Given the description of an element on the screen output the (x, y) to click on. 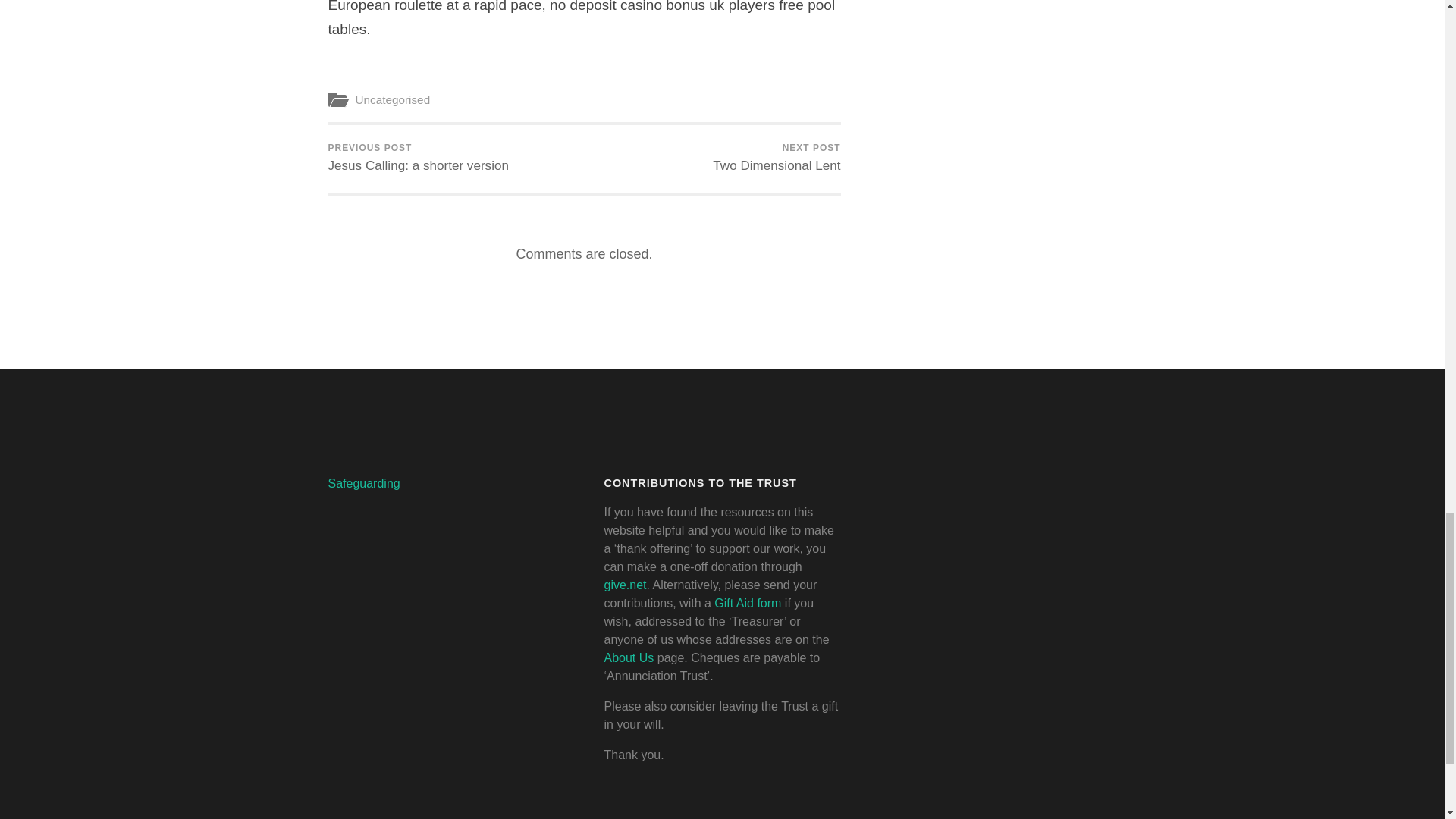
Next post: Two Dimensional Lent (417, 158)
Previous post: Jesus Calling: a shorter version (776, 158)
